Given the description of an element on the screen output the (x, y) to click on. 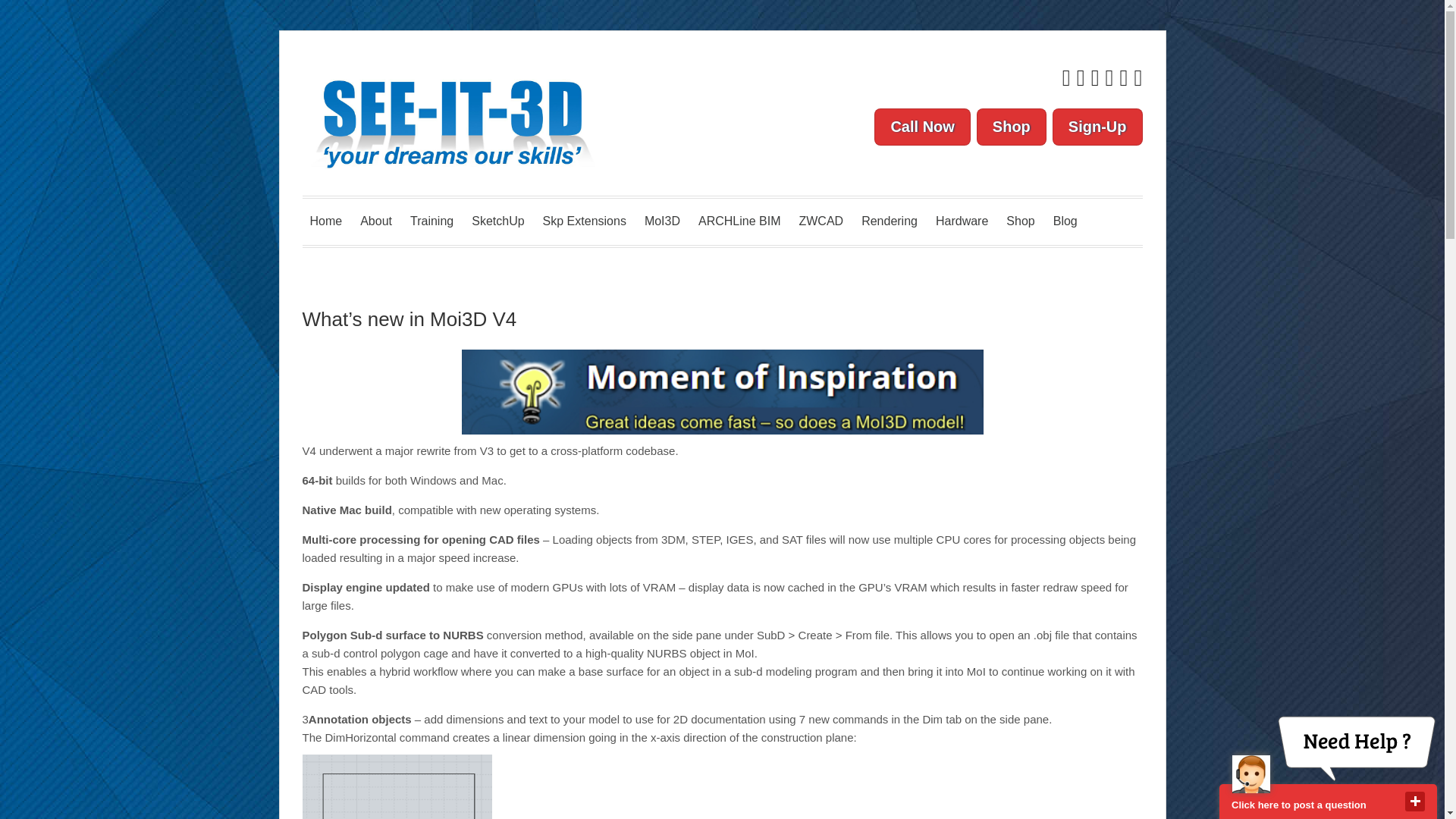
Training (432, 221)
SketchUp (497, 221)
Shop (1011, 126)
Sign-Up (1097, 126)
Skp Extensions (584, 221)
About (375, 221)
Home (325, 221)
Call Now (922, 126)
